Given the description of an element on the screen output the (x, y) to click on. 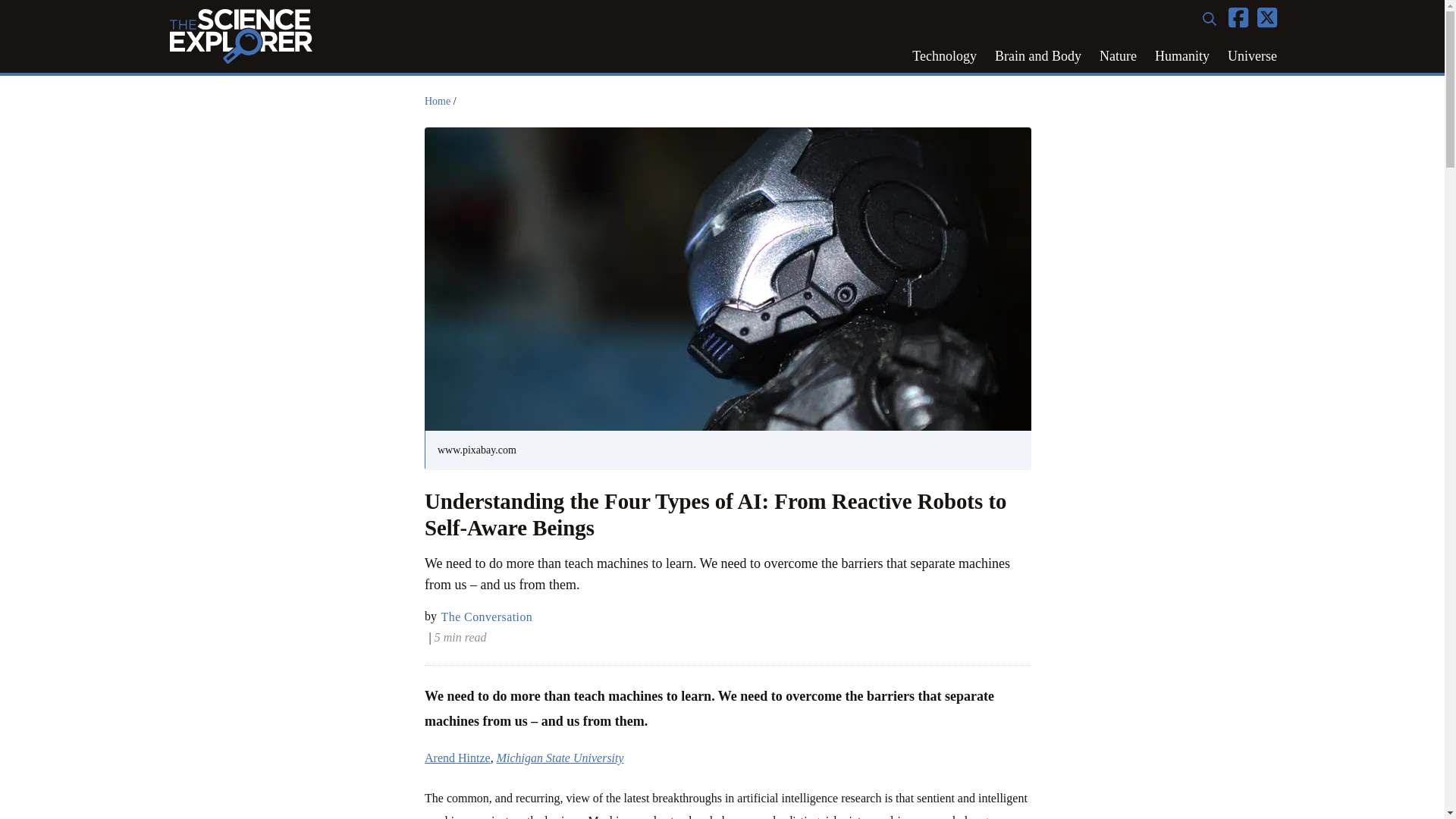
Humanity (1181, 55)
Michigan State University (560, 757)
Arend Hintze (457, 757)
Brain and Body (1037, 55)
Home (437, 101)
Technology (943, 55)
Nature (1117, 55)
Universe (1251, 55)
